Given the description of an element on the screen output the (x, y) to click on. 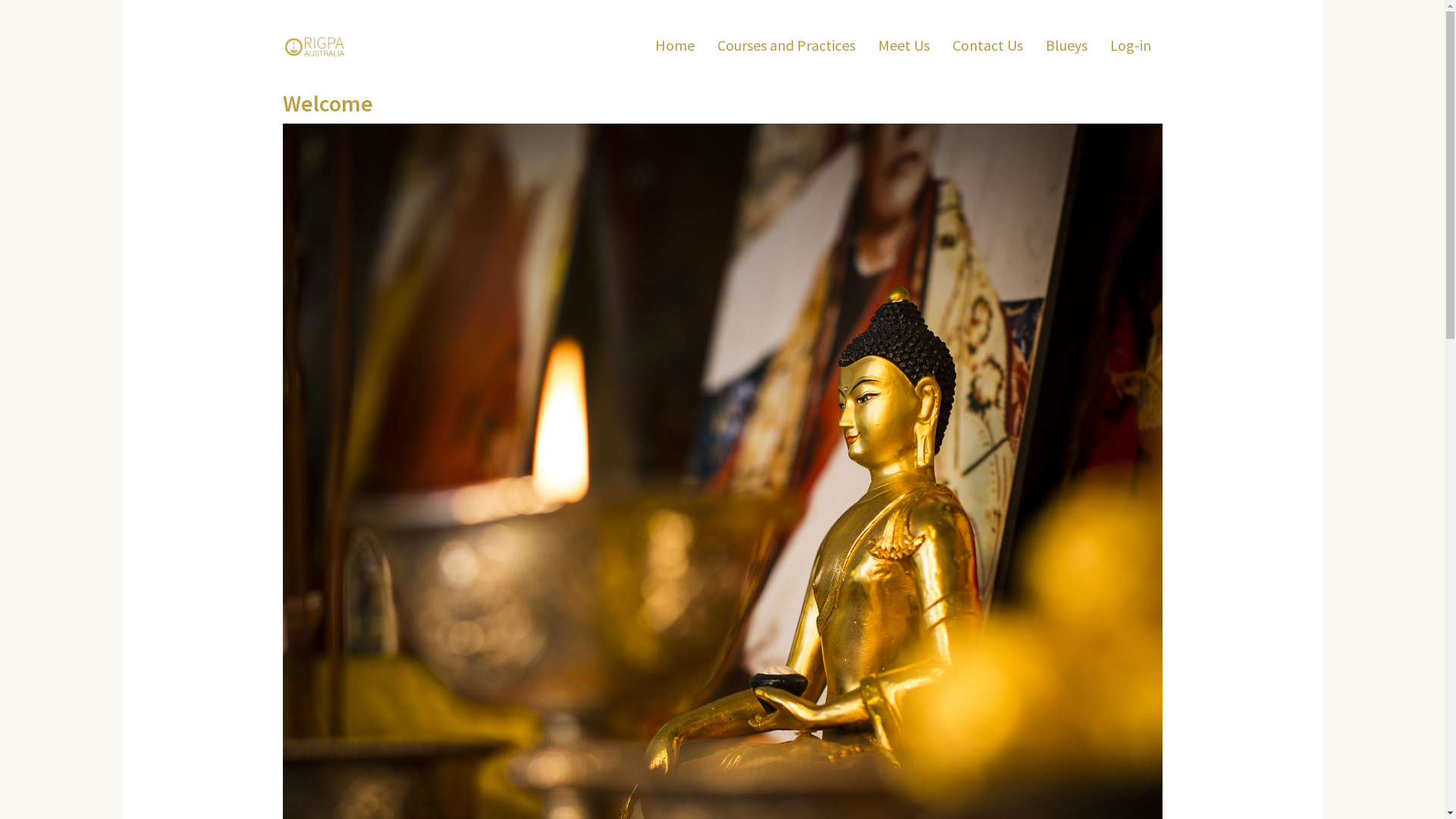
Home Element type: hover (320, 45)
Blueys Element type: text (1066, 45)
Courses and Practices Element type: text (785, 45)
Skip to main content Element type: text (0, 0)
Contact Us Element type: text (986, 45)
Meet Us Element type: text (903, 45)
Welcome Element type: text (327, 102)
Home Element type: text (674, 45)
Log-in Element type: text (1129, 45)
